Given the description of an element on the screen output the (x, y) to click on. 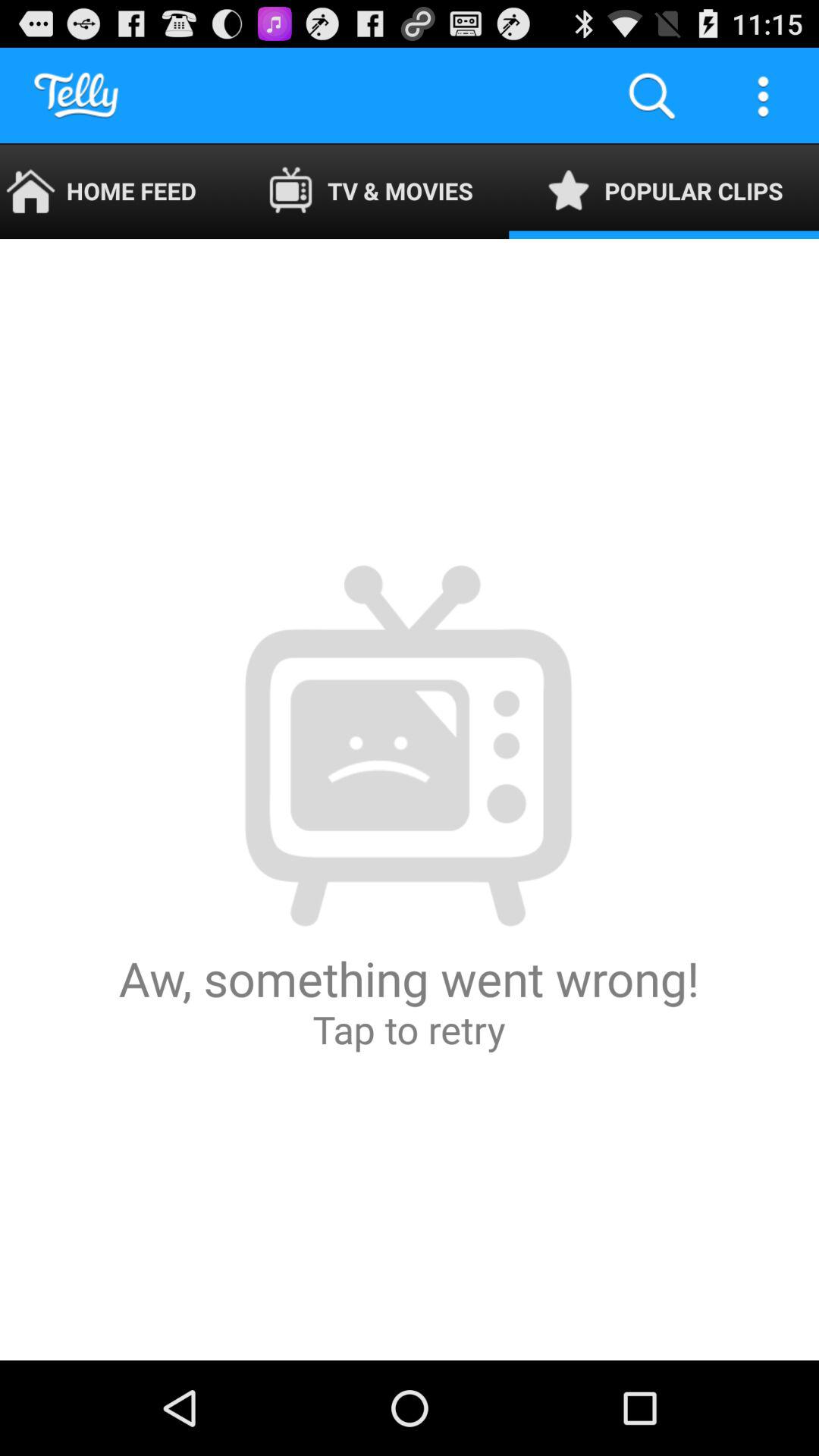
open the icon next to home feed (370, 190)
